Given the description of an element on the screen output the (x, y) to click on. 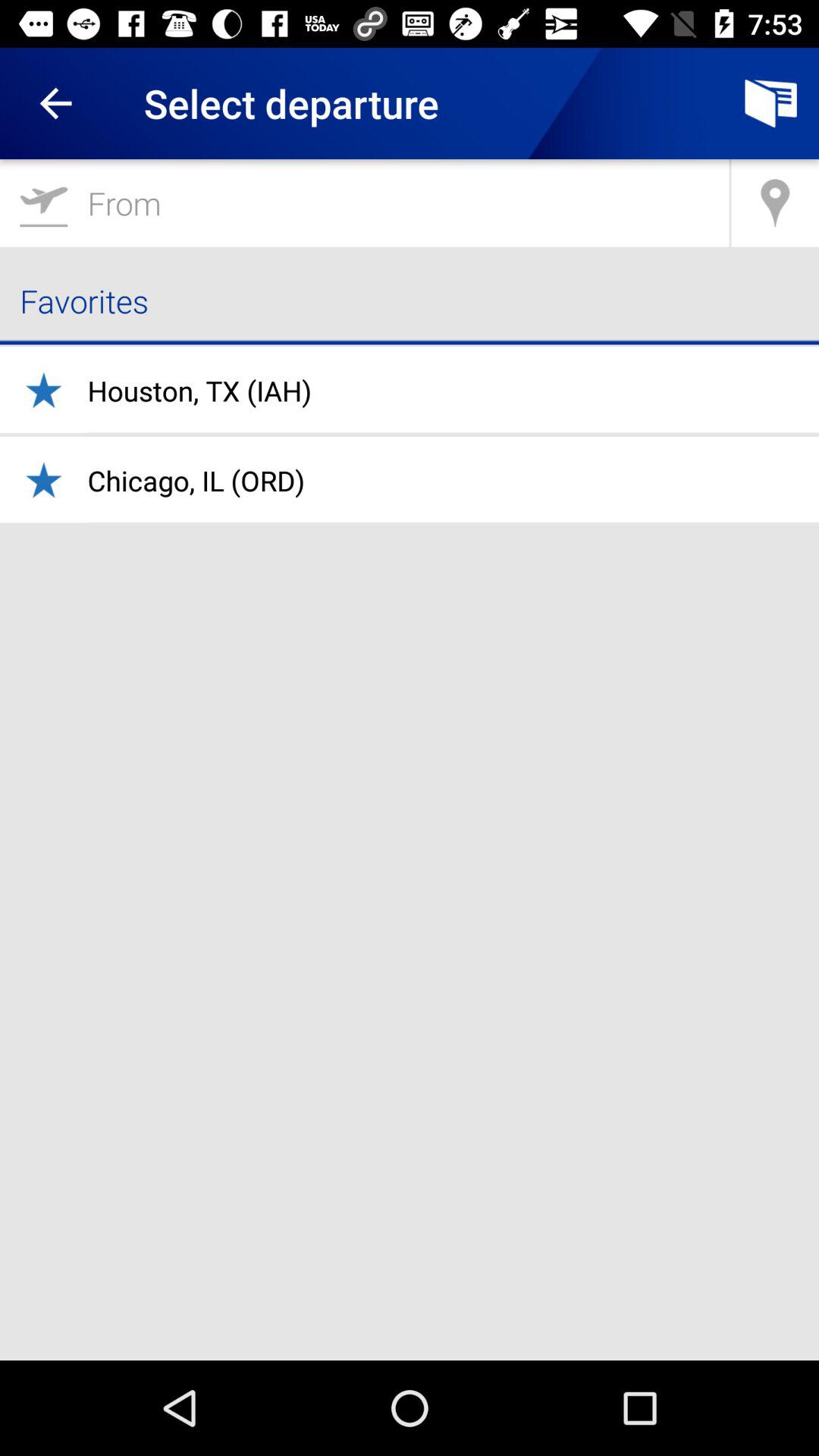
select departure airport (364, 202)
